Given the description of an element on the screen output the (x, y) to click on. 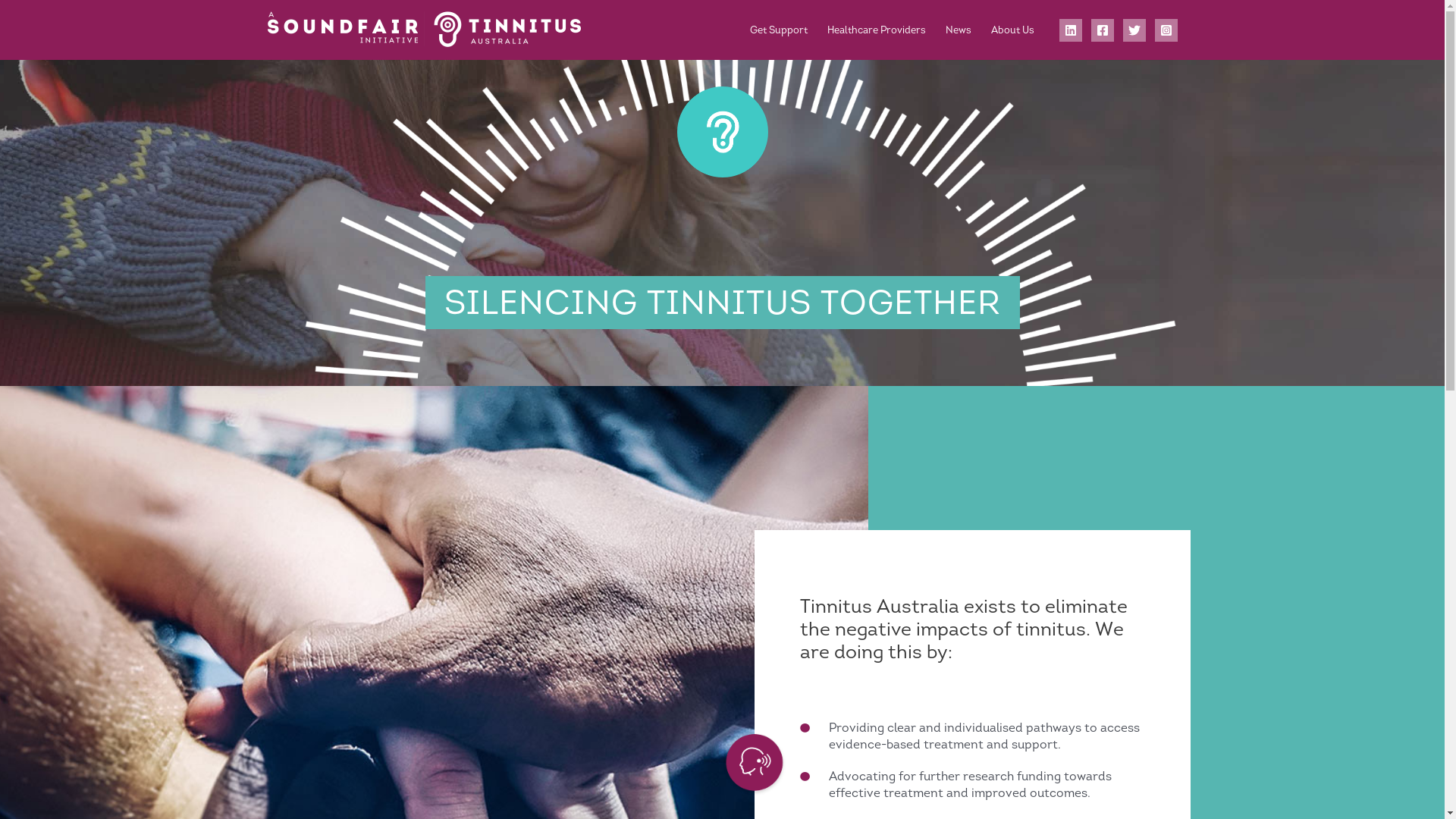
About Us Element type: text (1012, 29)
Healthcare Providers Element type: text (876, 29)
News Element type: text (958, 29)
Get Support Element type: text (778, 29)
